Given the description of an element on the screen output the (x, y) to click on. 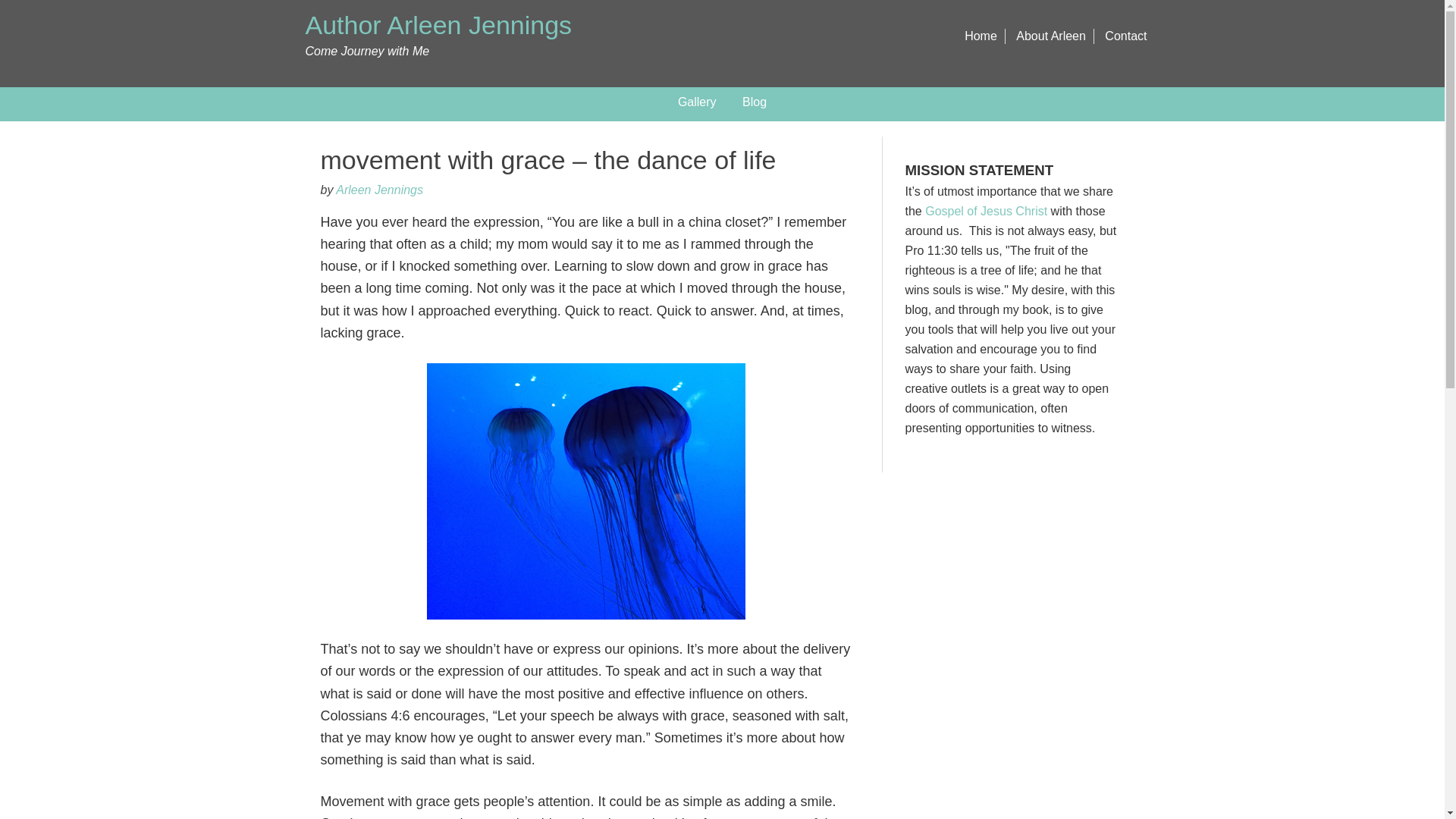
About Arleen (1051, 36)
Home (981, 36)
Gallery (697, 102)
Contact (1125, 36)
Arleen Jennings (379, 189)
Gospel of Jesus Christ (986, 210)
Author Arleen Jennings (438, 24)
Blog (753, 102)
